Given the description of an element on the screen output the (x, y) to click on. 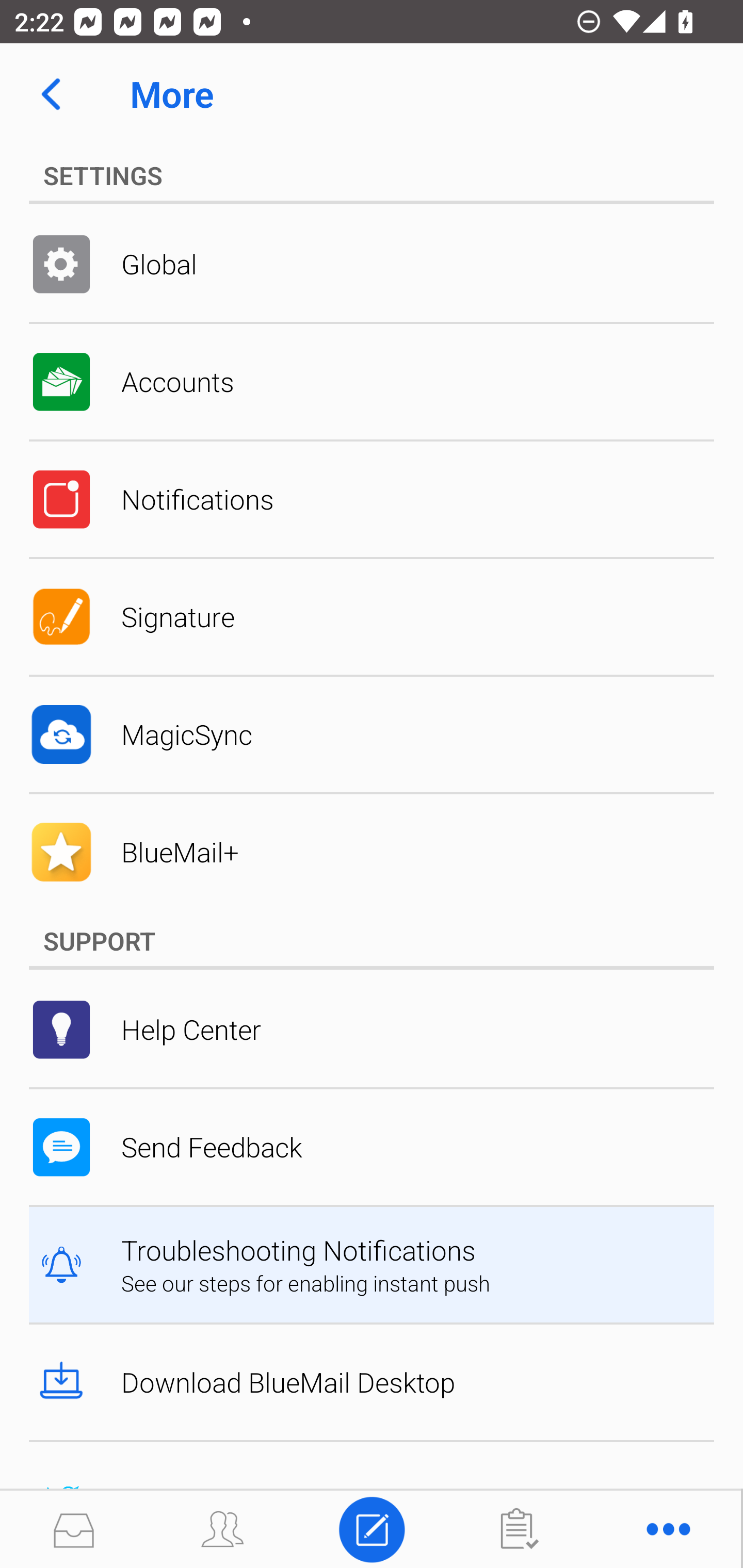
Navigate up (50, 93)
Global (371, 263)
Accounts (371, 381)
Notifications (371, 499)
Signature (371, 616)
MagicSync (371, 734)
BlueMail+ (371, 851)
Help Center (371, 1029)
Send Feedback (371, 1146)
Download BlueMail Desktop (371, 1381)
